Given the description of an element on the screen output the (x, y) to click on. 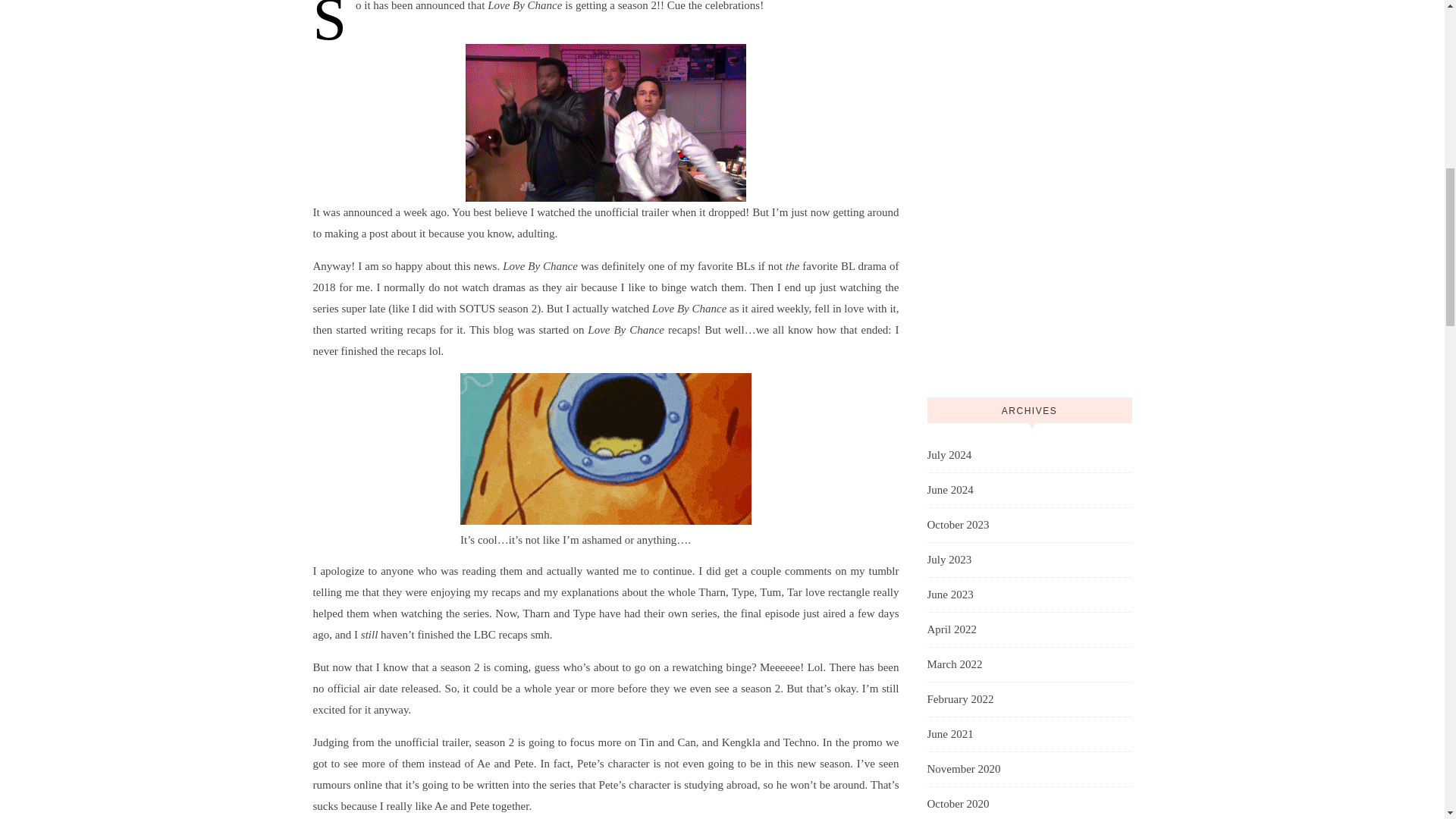
Advertisement (1028, 183)
